Given the description of an element on the screen output the (x, y) to click on. 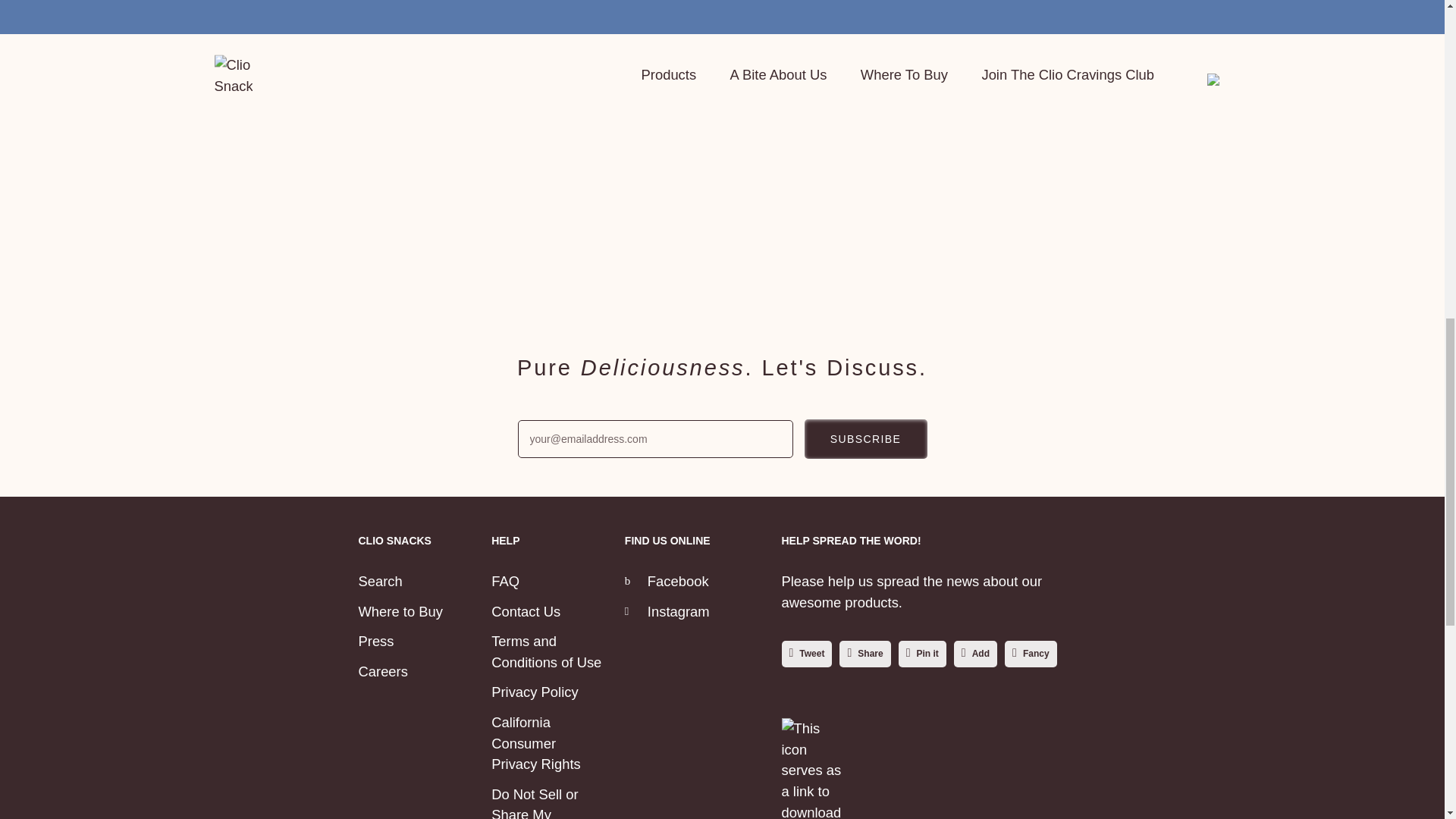
Pin it (922, 653)
Search (379, 580)
Subscribe (864, 438)
Privacy Policy (535, 691)
Press (375, 641)
Careers (382, 671)
Subscribe (864, 438)
Instagram (667, 611)
Where to Buy (400, 611)
FAQ (505, 580)
